Given the description of an element on the screen output the (x, y) to click on. 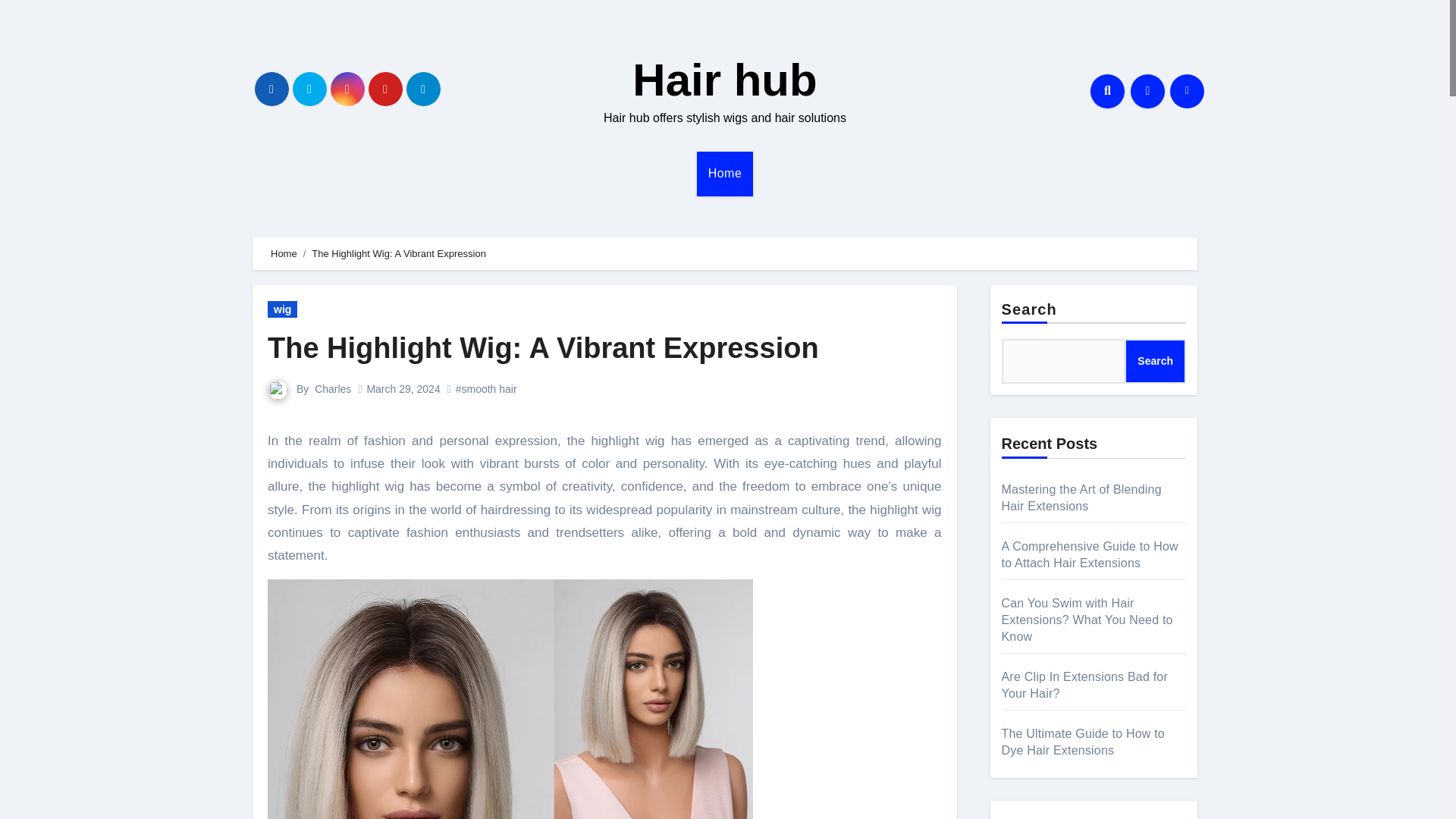
Home (725, 173)
Hair hub (723, 79)
Home (283, 253)
Home (725, 173)
The Highlight Wig: A Vibrant Expression (542, 347)
March 29, 2024 (402, 388)
wig (282, 309)
Charles (332, 388)
Permalink to: The Highlight Wig: A Vibrant Expression (542, 347)
